Given the description of an element on the screen output the (x, y) to click on. 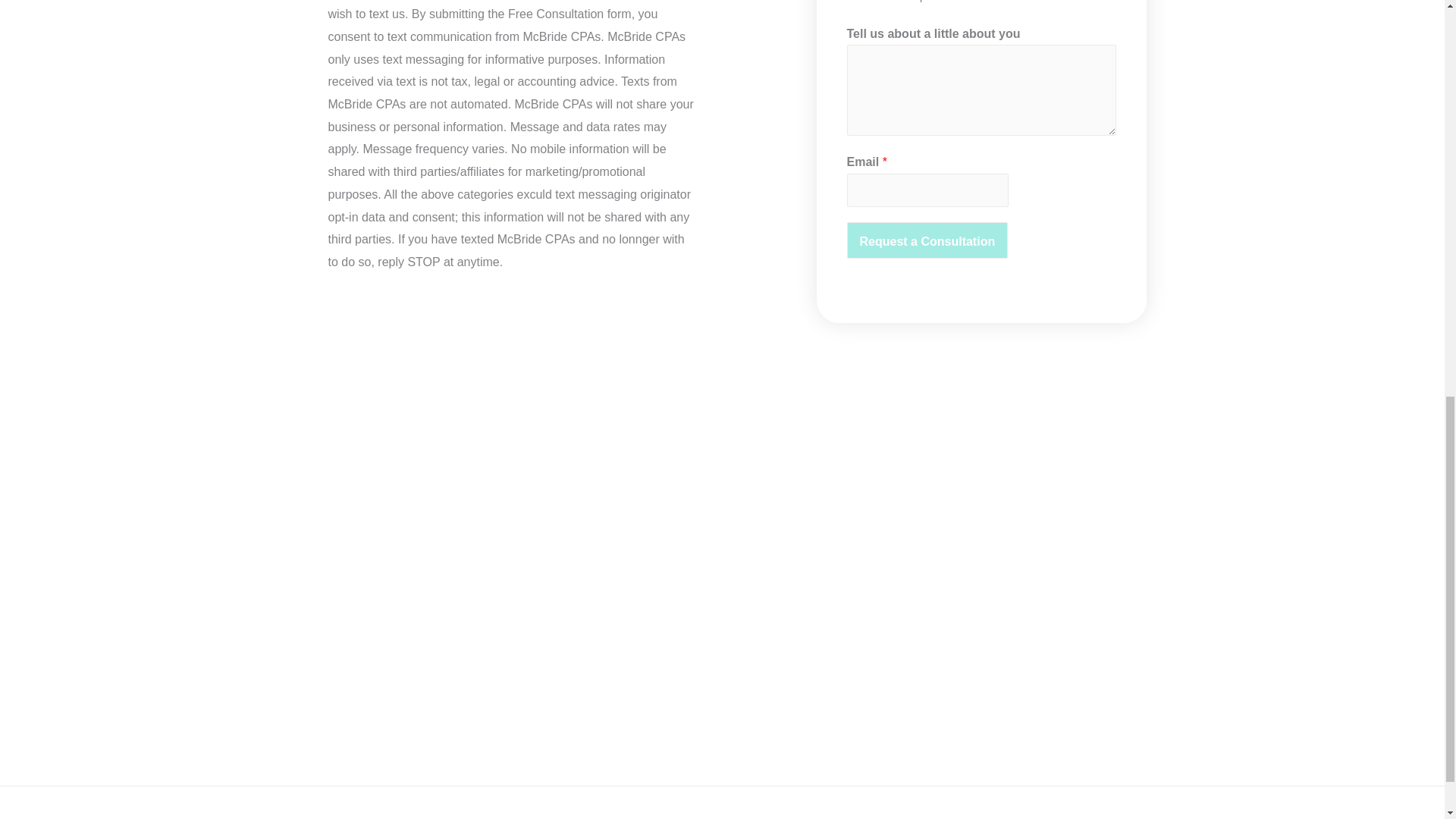
Request a Consultation (926, 239)
